Given the description of an element on the screen output the (x, y) to click on. 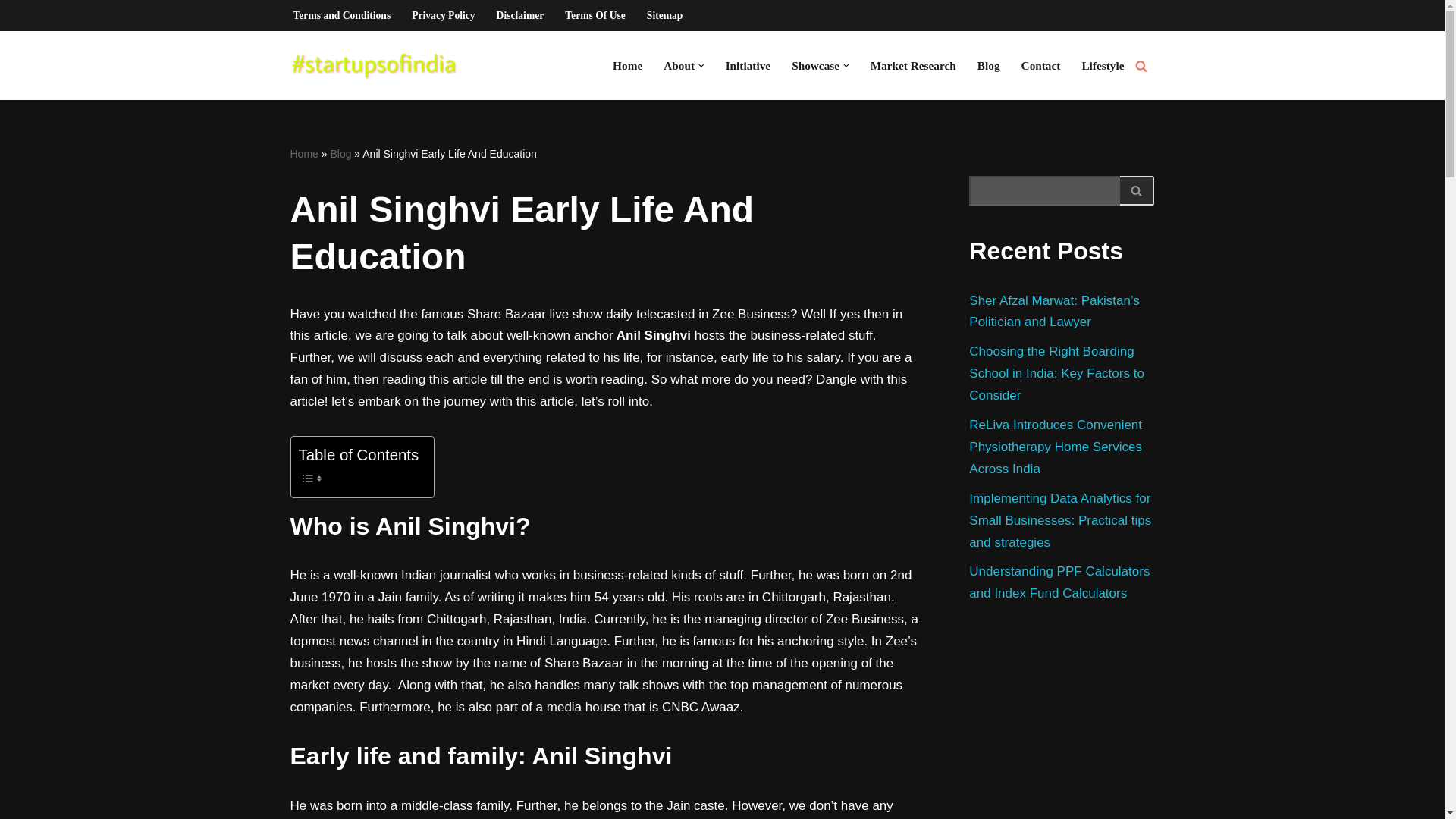
Showcase (816, 65)
Sitemap (664, 15)
Privacy Policy (443, 15)
Blog (988, 65)
Home (303, 153)
Terms and Conditions (341, 15)
Market Research (913, 65)
Initiative (748, 65)
Skip to content (11, 31)
Contact (1041, 65)
